Given the description of an element on the screen output the (x, y) to click on. 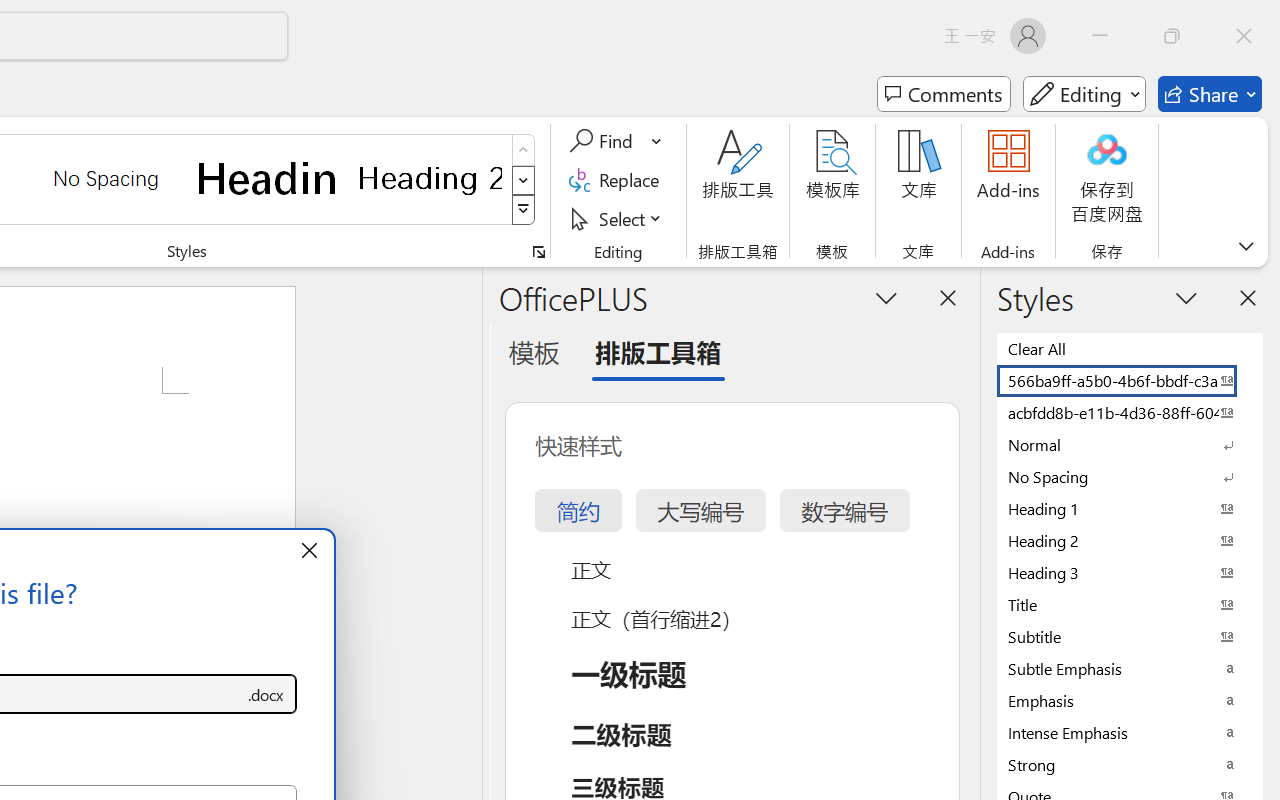
Restore Down (1172, 36)
Subtitle (1130, 636)
Row Down (523, 180)
